Given the description of an element on the screen output the (x, y) to click on. 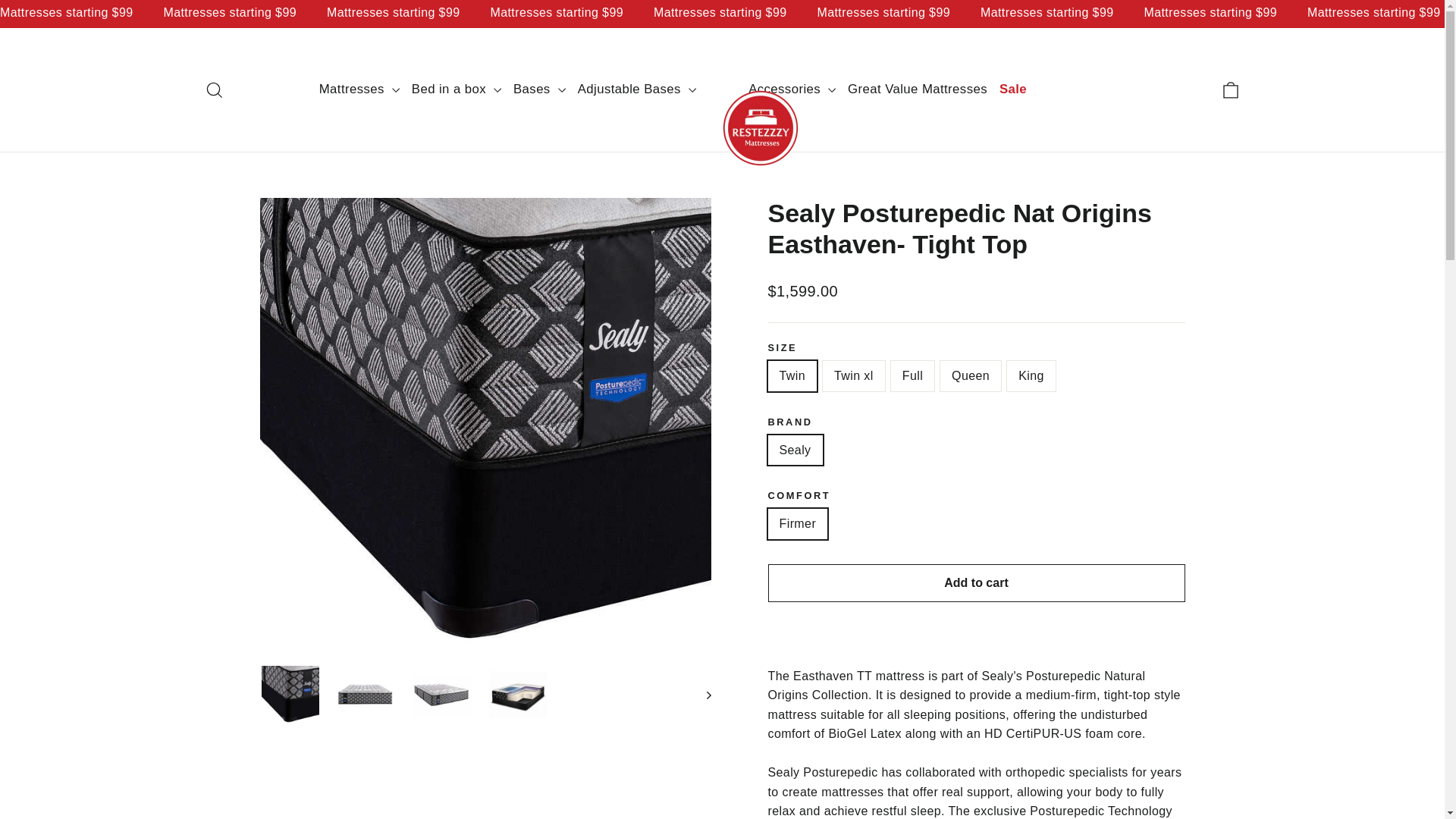
icon-search (213, 89)
icon-bag-minimal (1230, 89)
